Given the description of an element on the screen output the (x, y) to click on. 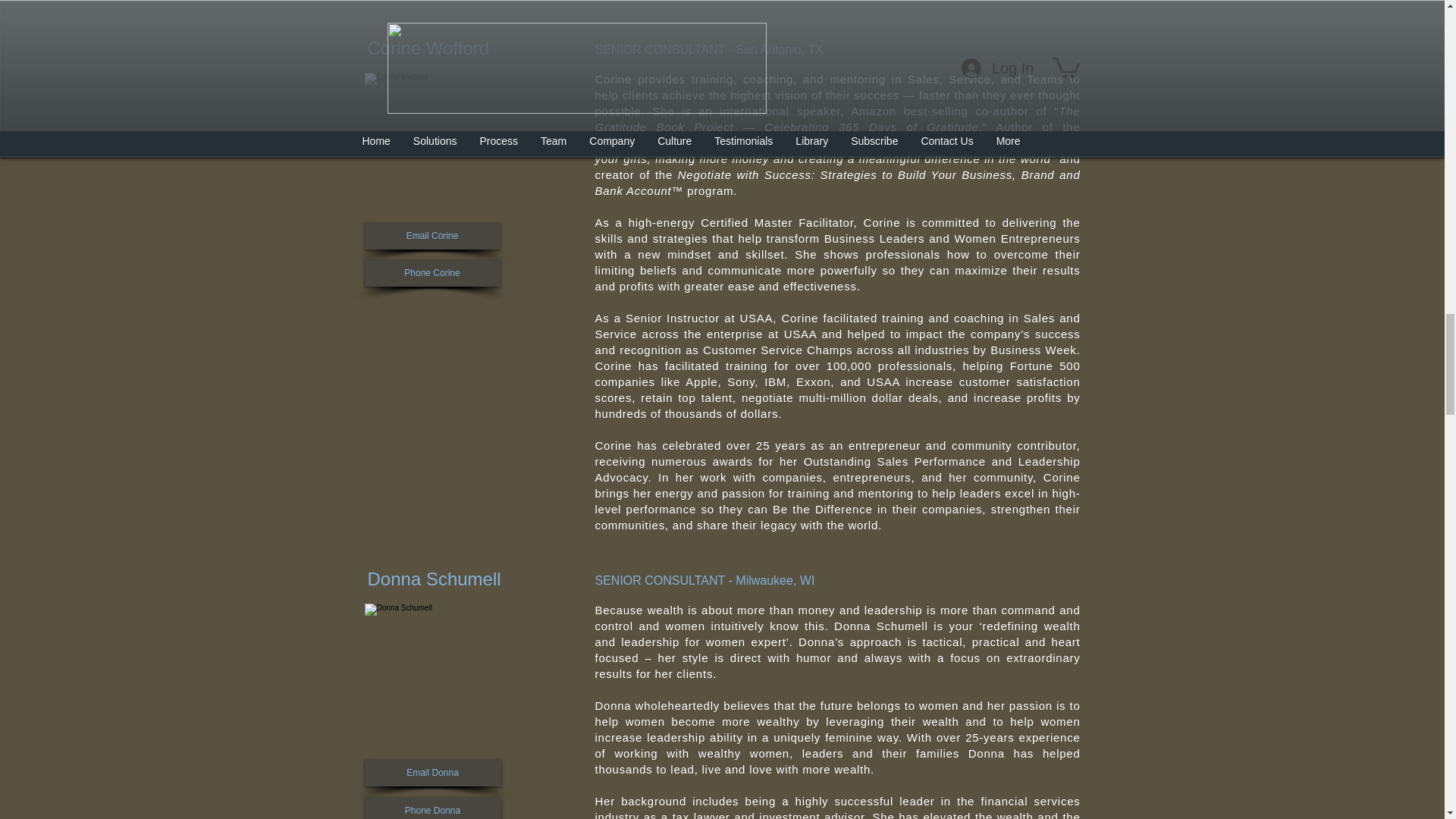
Email Donna (432, 773)
Phone Donna (432, 808)
Phone Corine (431, 273)
Email Corine (431, 235)
